Given the description of an element on the screen output the (x, y) to click on. 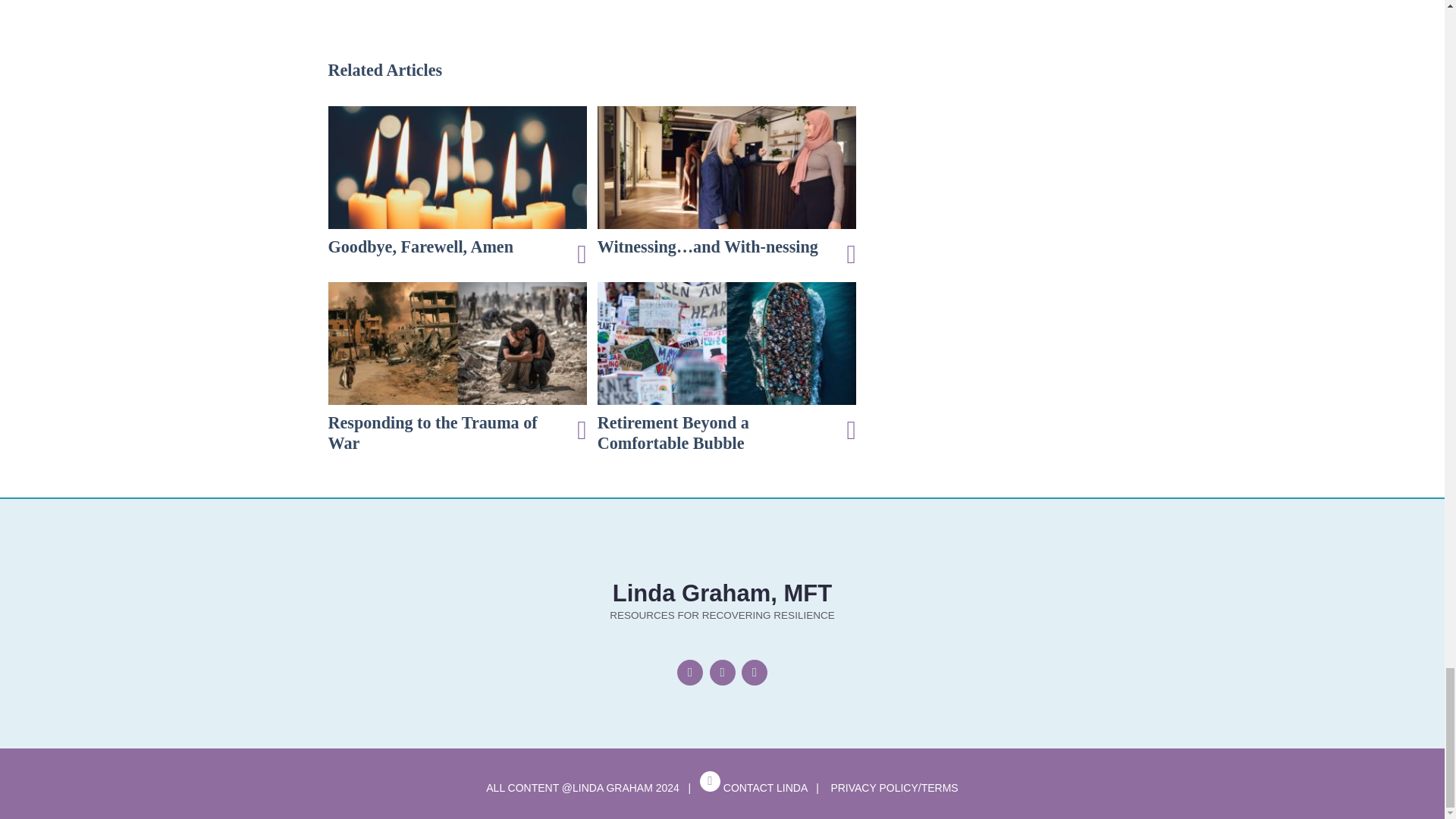
Goodbye, Farewell, Amen (456, 181)
